Given the description of an element on the screen output the (x, y) to click on. 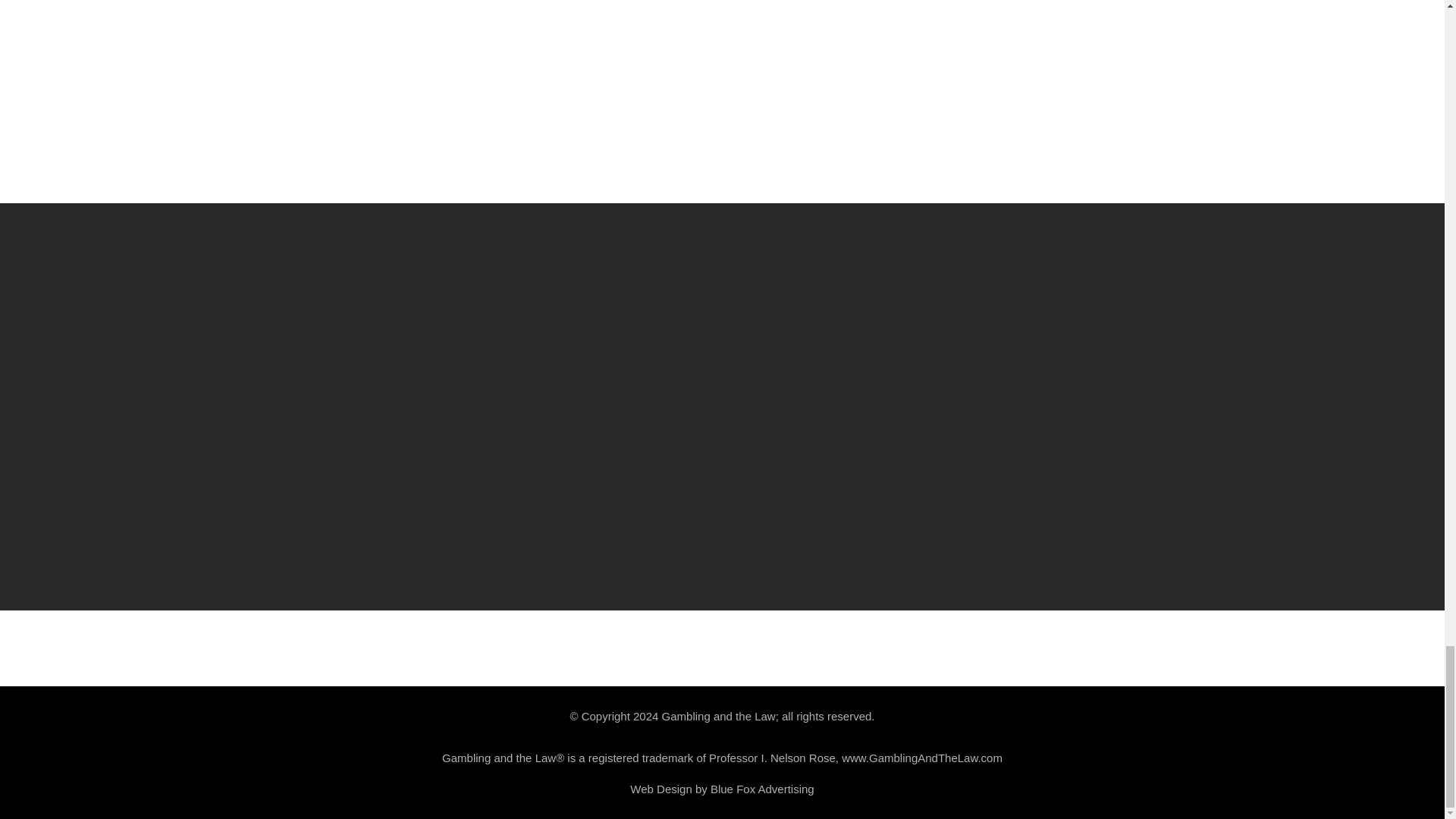
www.GamblingAndTheLaw.com (922, 757)
Web Design by Blue Fox Advertising (721, 788)
